Given the description of an element on the screen output the (x, y) to click on. 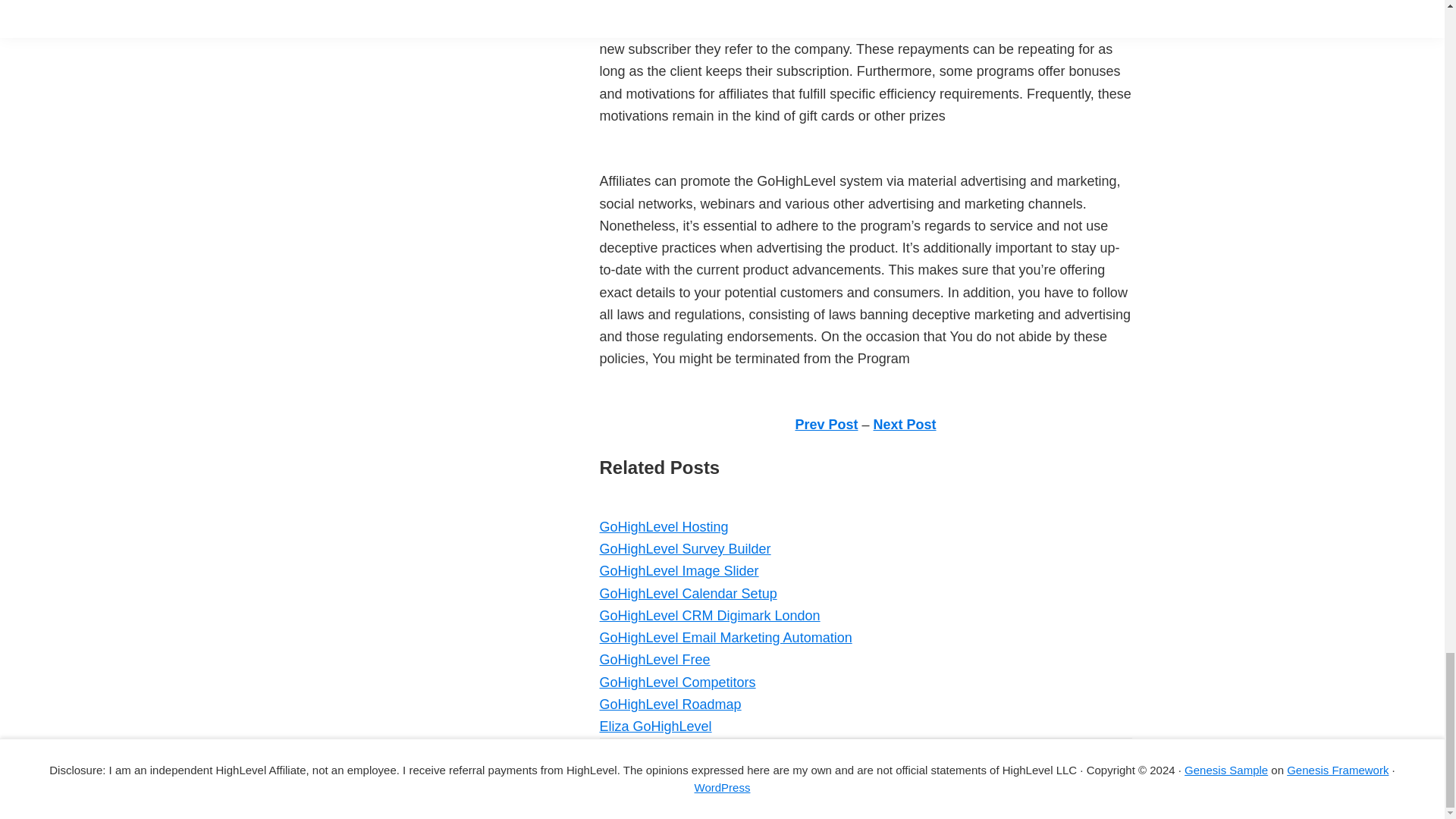
GoHighLevel CRM Digimark London (708, 615)
GoHighLevel Calendar Setup (687, 593)
GoHighLevel Hosting (663, 526)
GoHighLevel CRM Digimark London (708, 615)
GoHighLevel Image Slider (678, 570)
GoHighLevel Free (654, 659)
GoHighLevel Email Marketing Automation (724, 637)
GoHighLevel Free (654, 659)
GoHighLevel Survey Builder (684, 548)
GoHighLevel Calendar Setup (687, 593)
